Given the description of an element on the screen output the (x, y) to click on. 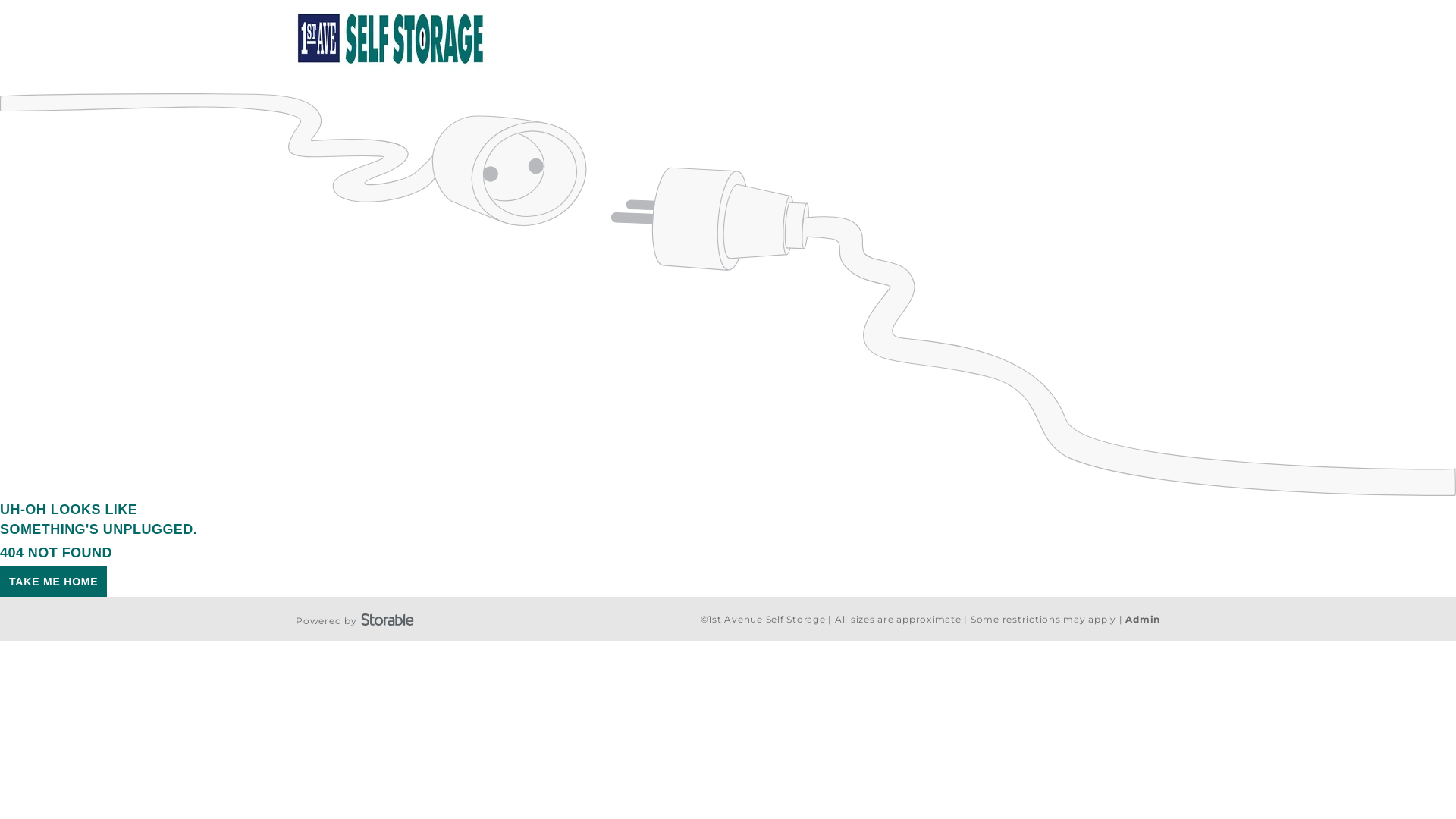
TAKE ME HOME Element type: text (53, 581)
Admin Element type: text (1142, 618)
1st Avenue Self Storage logo Element type: hover (390, 38)
Powered by Element type: text (354, 618)
